Given the description of an element on the screen output the (x, y) to click on. 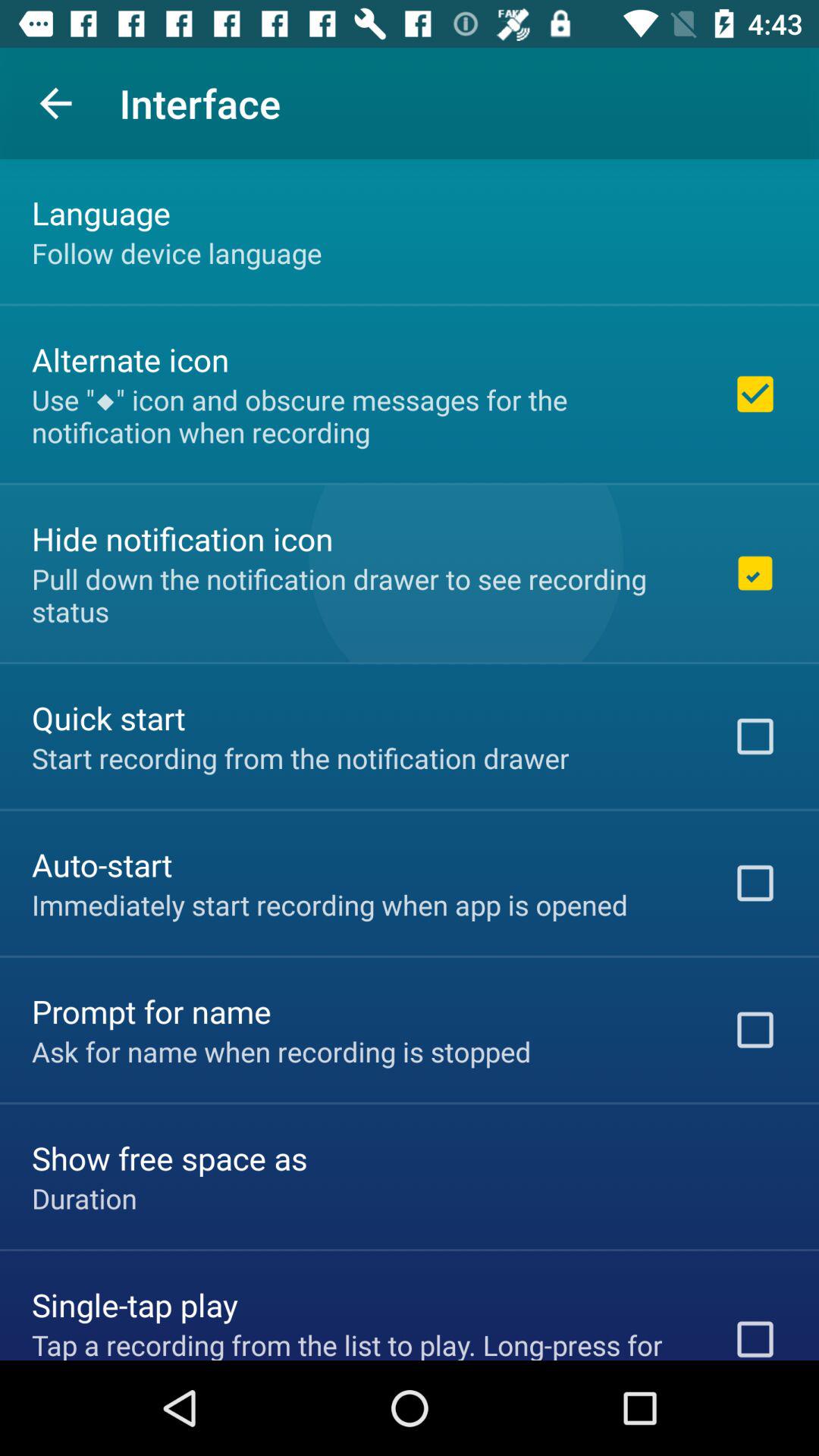
select the 2nd checkbox on the right side of the web page (755, 573)
click on the square button at bottom right corner of the page (755, 1333)
select the 3rd checkbox from the bottom right side of the web page (755, 883)
select the first checkbox on the web page (755, 394)
